Given the description of an element on the screen output the (x, y) to click on. 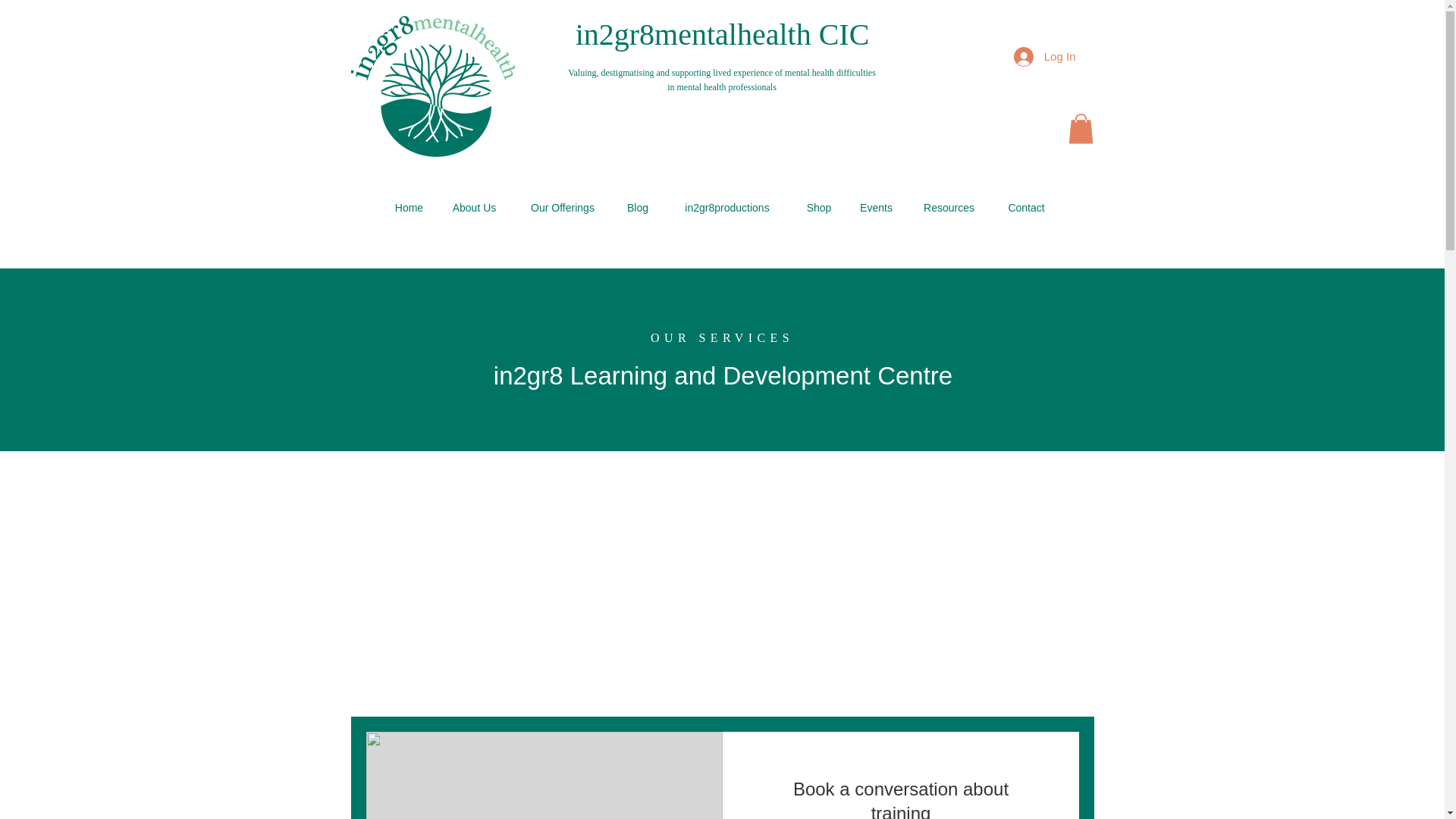
Events (875, 208)
Log In (1044, 56)
Home (408, 208)
Blog (638, 208)
Shop (819, 208)
Book a conversation about training (899, 798)
Contact (1025, 208)
Resources (948, 208)
